Given the description of an element on the screen output the (x, y) to click on. 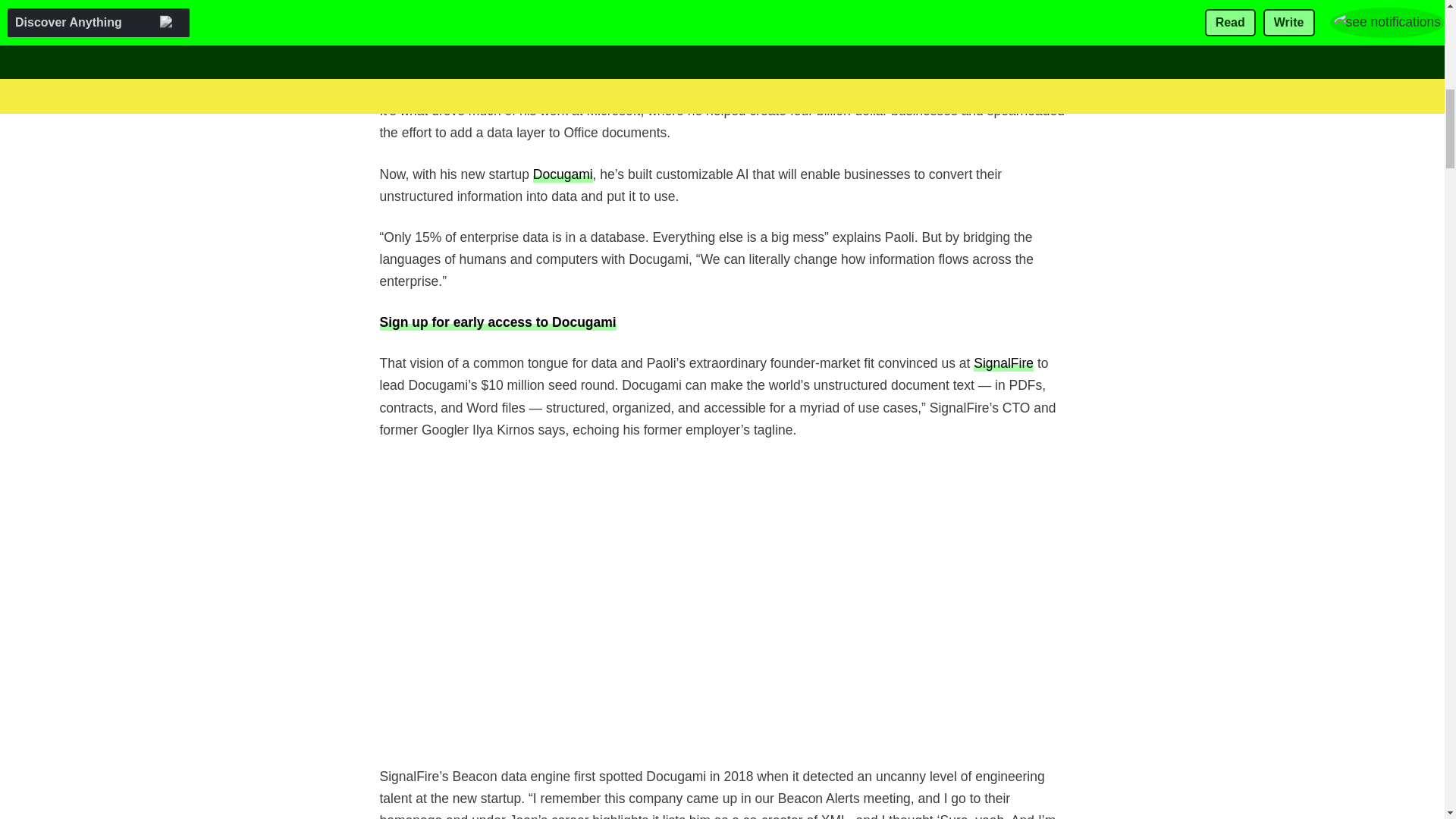
Sign up for early access to Docugami (496, 321)
Docugami (562, 173)
SignalFire (1003, 362)
